Given the description of an element on the screen output the (x, y) to click on. 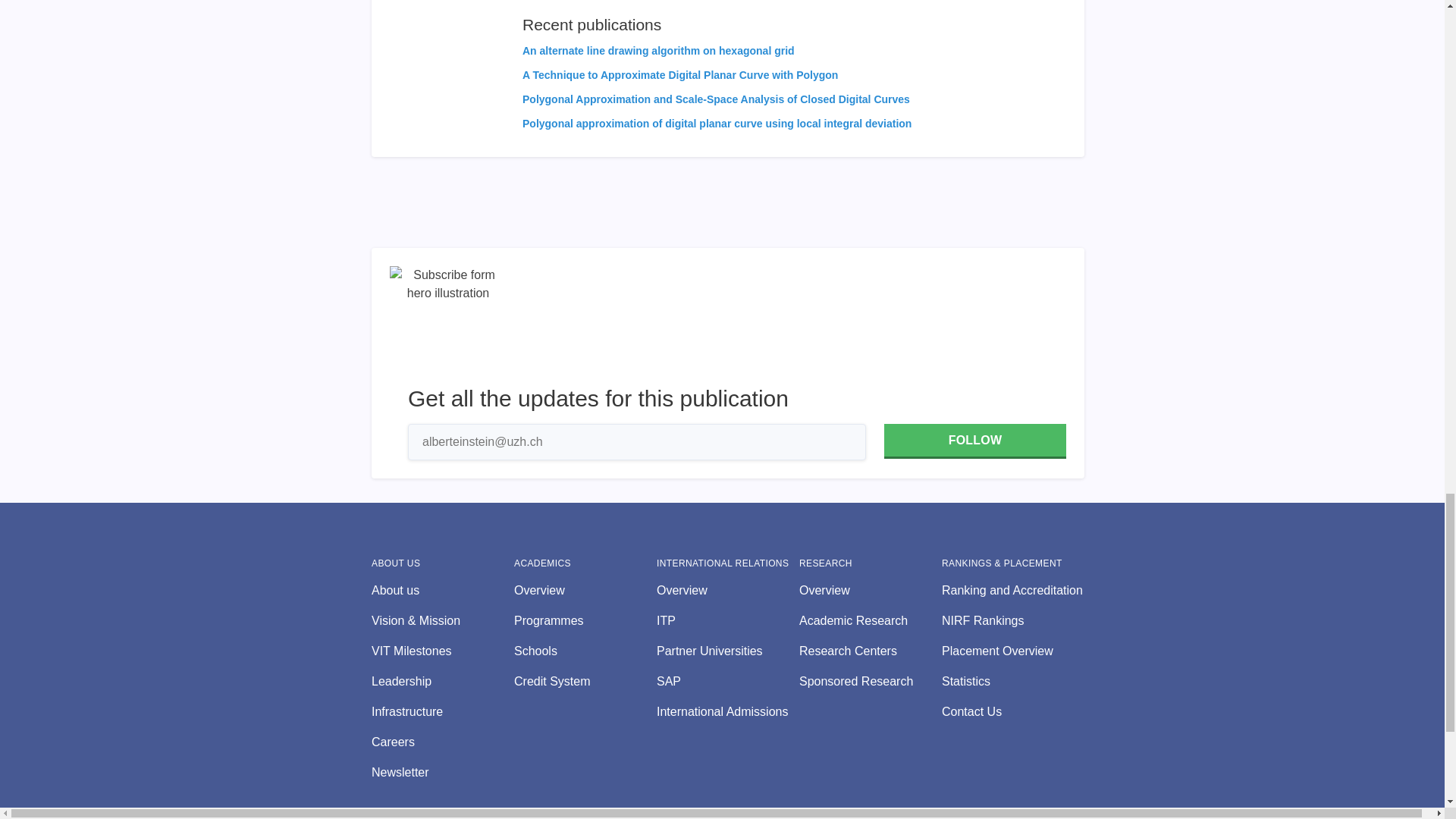
Subscribe form hero illustration (448, 324)
About us (442, 590)
FOLLOW (974, 441)
VIT Milestones (442, 651)
An alternate line drawing algorithm on hexagonal grid (658, 50)
A Technique to Approximate Digital Planar Curve with Polygon (680, 74)
Leadership (442, 681)
